Given the description of an element on the screen output the (x, y) to click on. 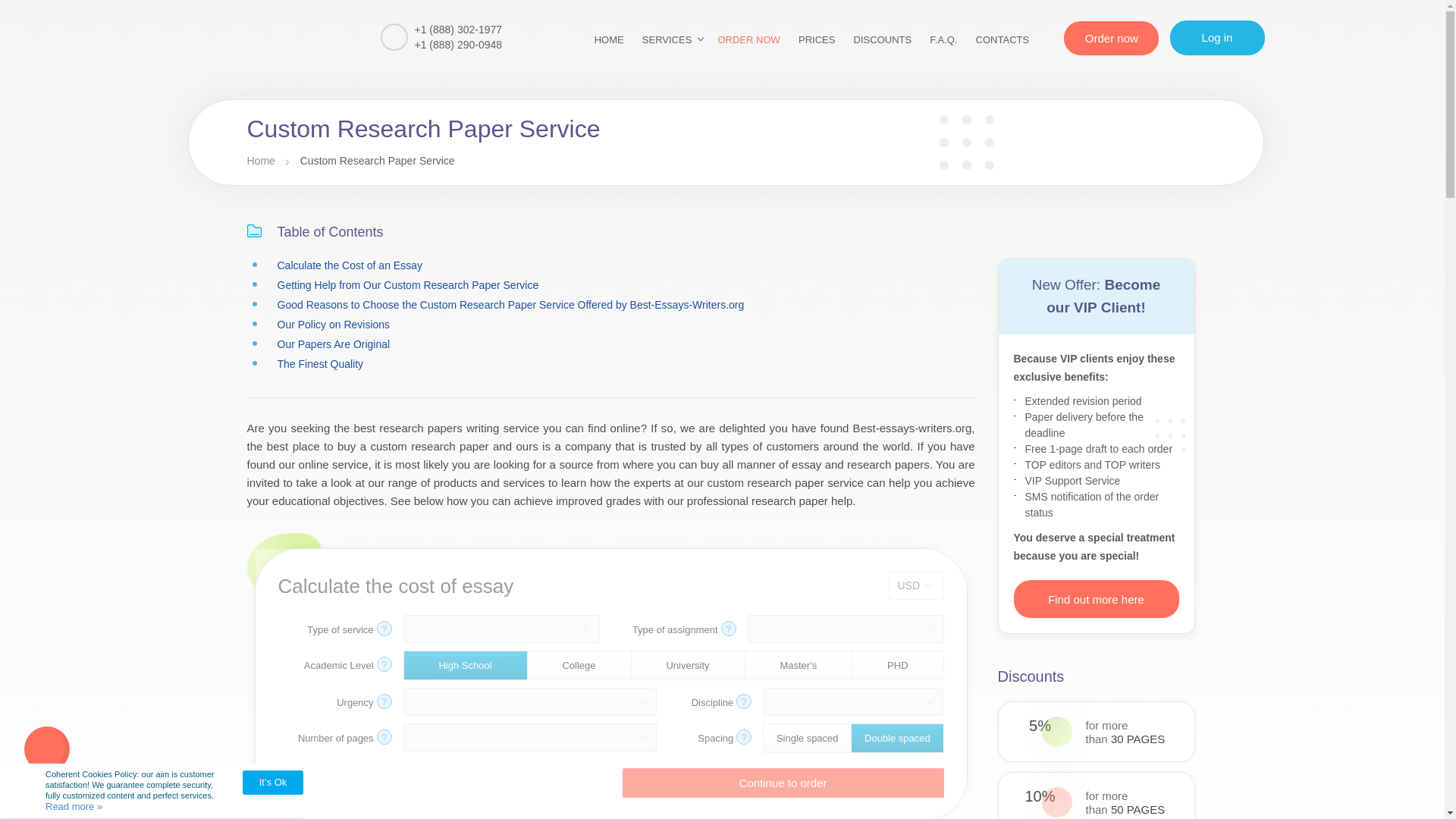
Calculate the Cost of an Essay (350, 265)
CONTACTS (1002, 39)
The Finest Quality (321, 363)
HOME (608, 39)
Order now (1111, 38)
Our Policy on Revisions (334, 324)
Getting Help from Our Custom Research Paper Service (408, 285)
Continue to order (782, 782)
ORDER NOW (748, 39)
